Given the description of an element on the screen output the (x, y) to click on. 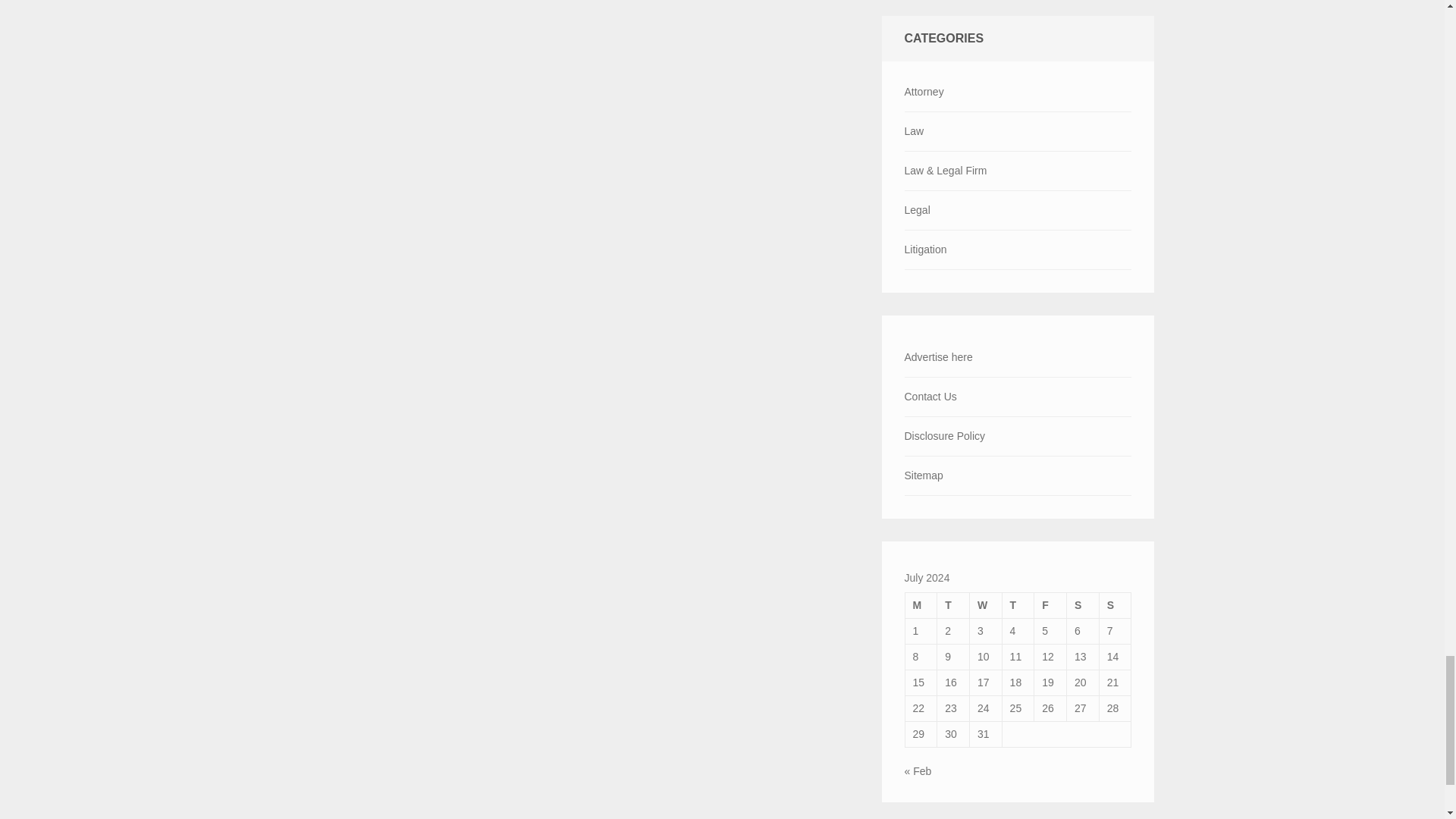
Tuesday (953, 605)
Sunday (1115, 605)
Saturday (1083, 605)
Wednesday (985, 605)
Monday (920, 605)
Friday (1050, 605)
Thursday (1017, 605)
